Given the description of an element on the screen output the (x, y) to click on. 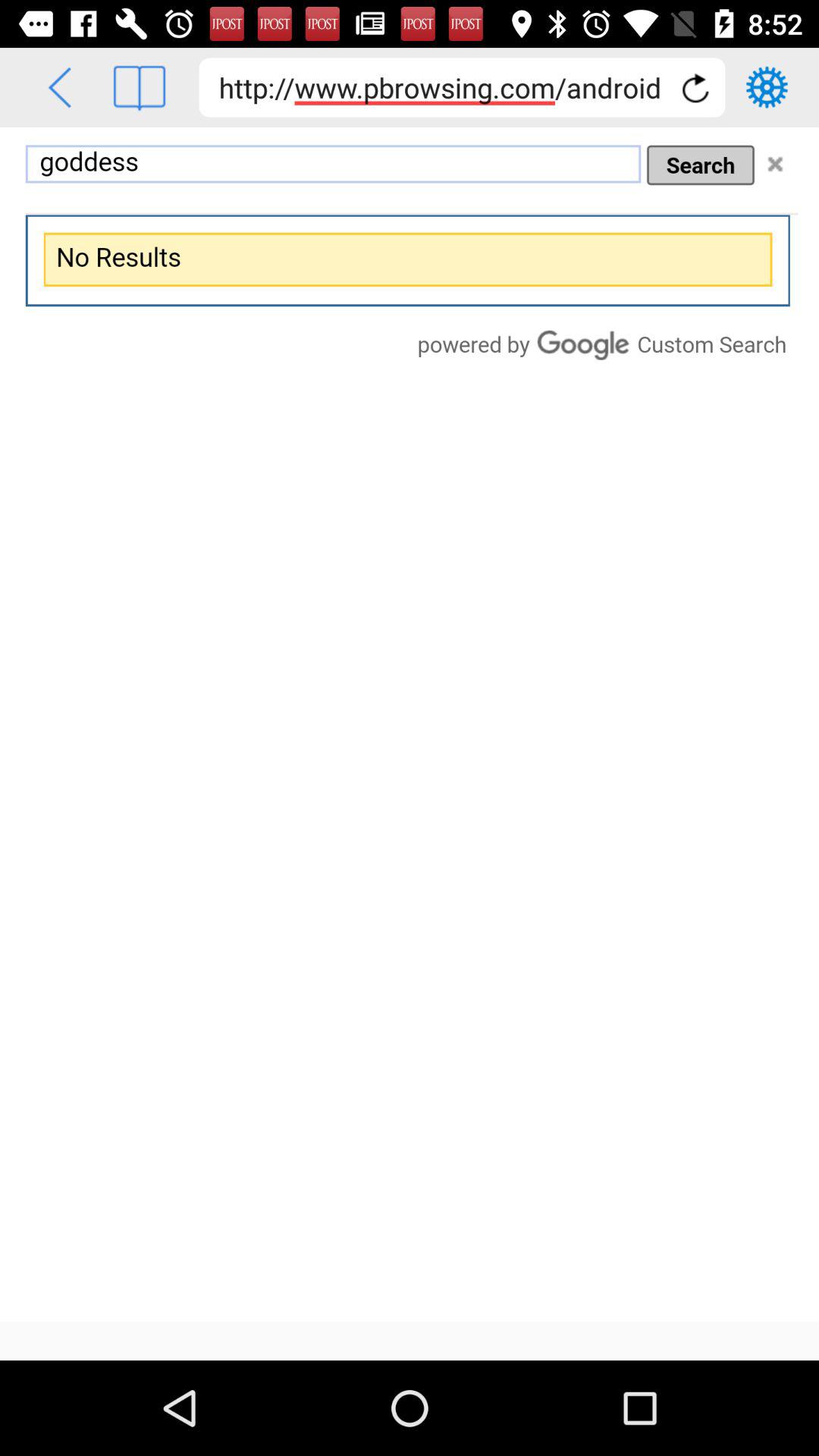
go back (59, 87)
